Given the description of an element on the screen output the (x, y) to click on. 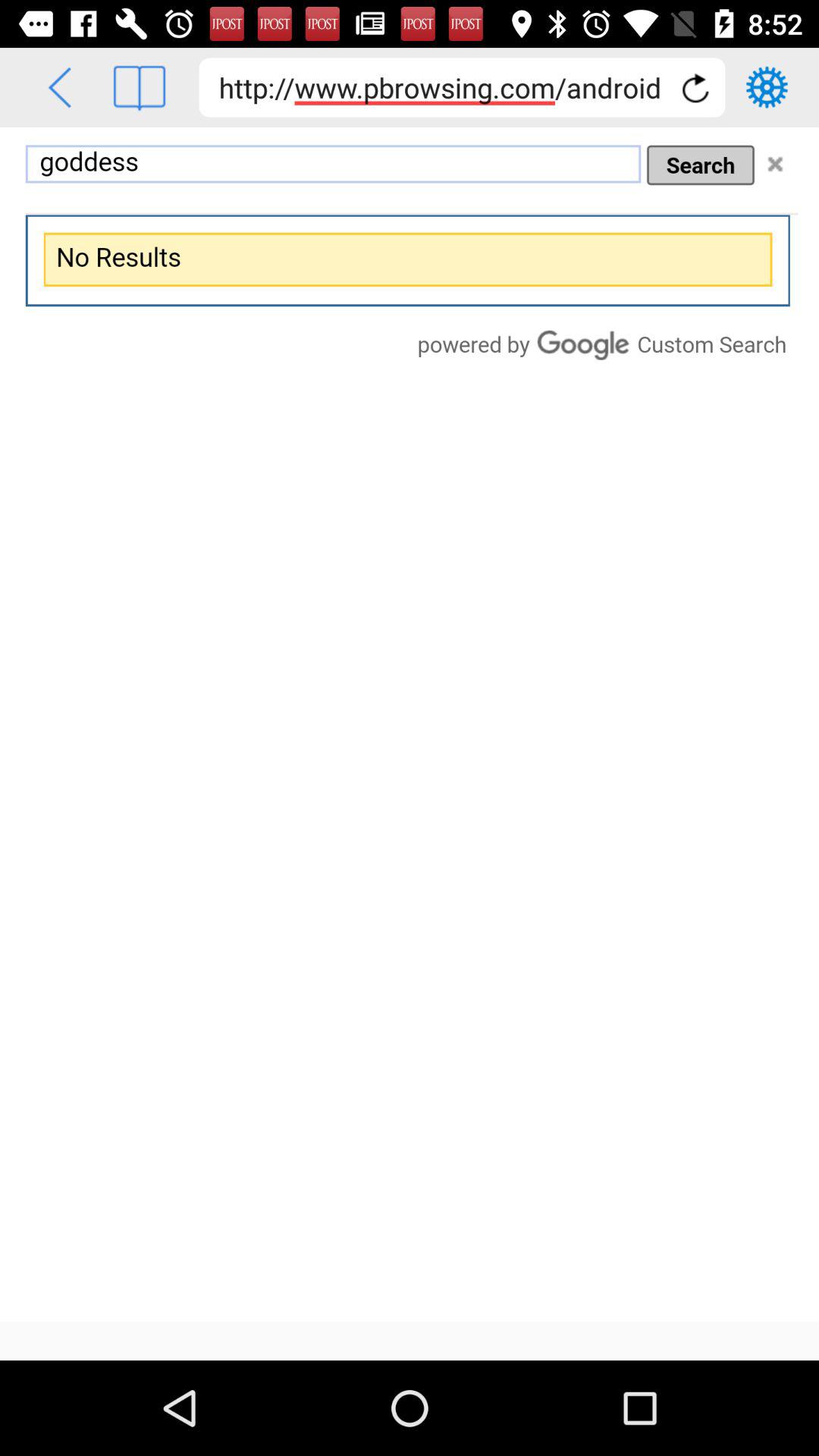
go back (59, 87)
